Given the description of an element on the screen output the (x, y) to click on. 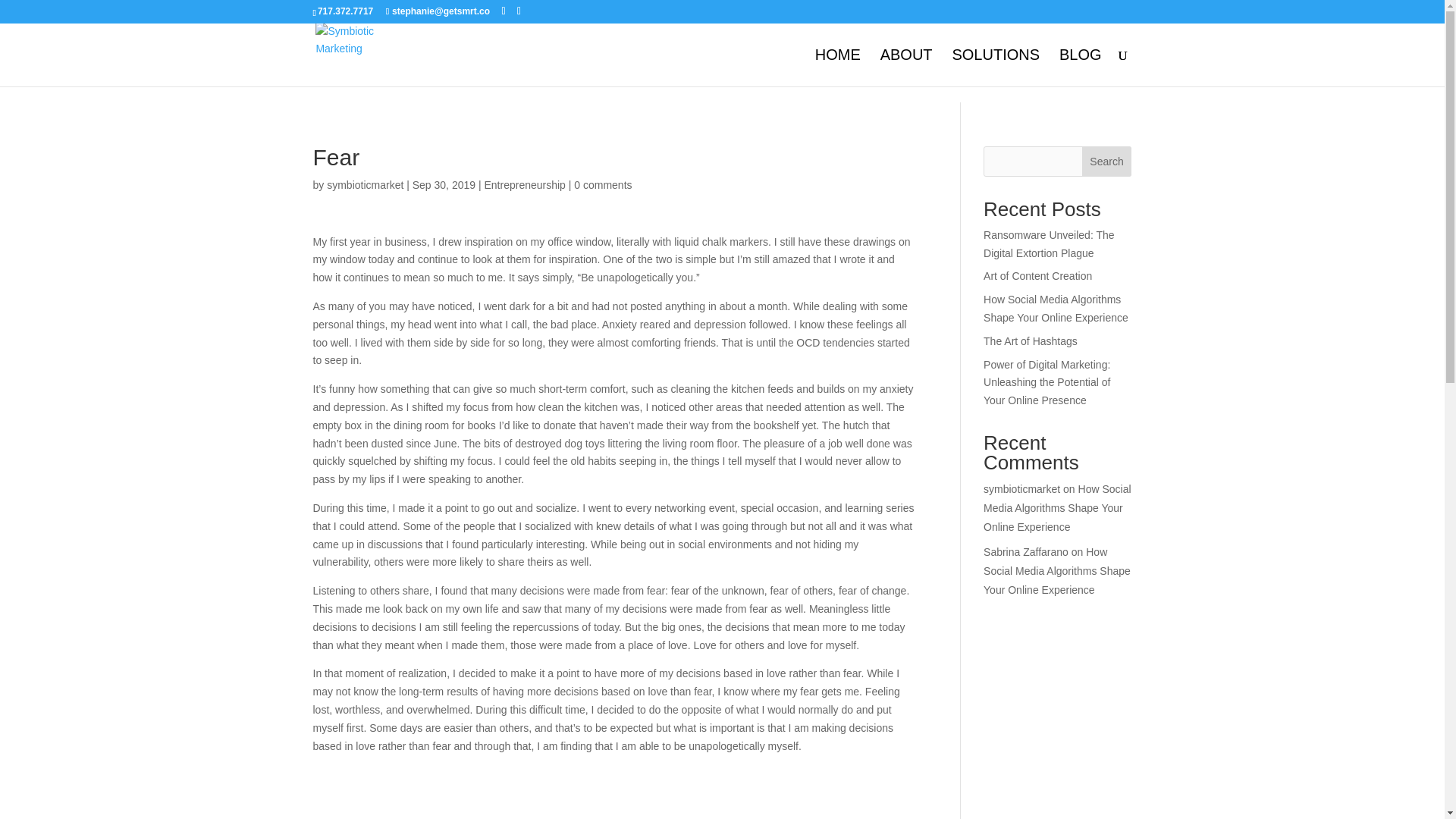
Ransomware Unveiled: The Digital Extortion Plague (1049, 244)
SOLUTIONS (995, 67)
Art of Content Creation (1038, 275)
BLOG (1080, 67)
symbioticmarket (1021, 489)
0 comments (602, 184)
HOME (837, 67)
Posts by symbioticmarket (364, 184)
symbioticmarket (364, 184)
